Given the description of an element on the screen output the (x, y) to click on. 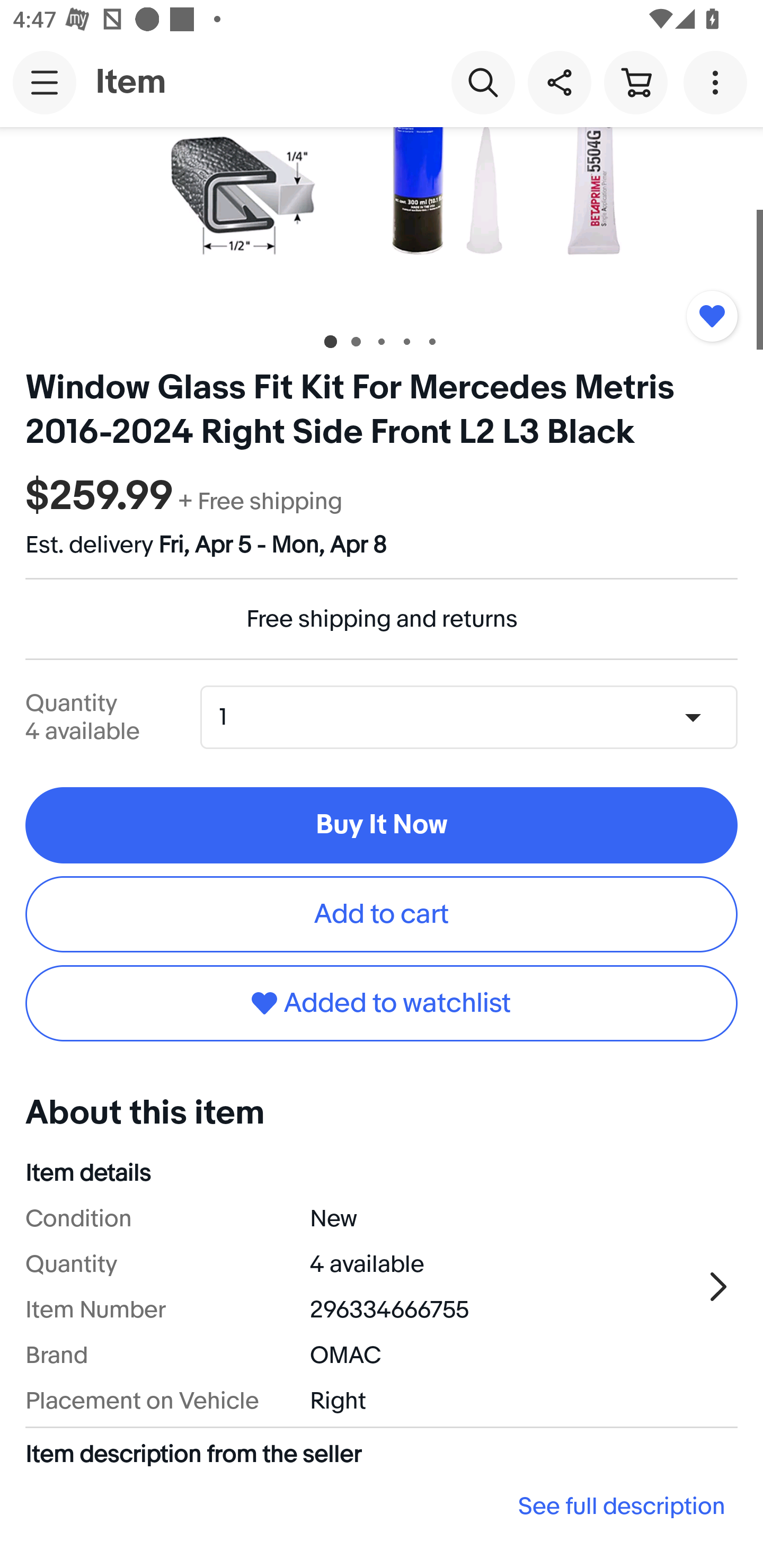
Main navigation, open (44, 82)
Search (482, 81)
Share this item (559, 81)
Cart button shopping cart (635, 81)
More options (718, 81)
Item image 1 of 10 (381, 221)
Added to watchlist (711, 315)
Quantity,1,4 available 1 (474, 716)
Buy It Now (381, 825)
Add to cart (381, 913)
Added to watchlist (381, 1003)
See full description (381, 1505)
